Given the description of an element on the screen output the (x, y) to click on. 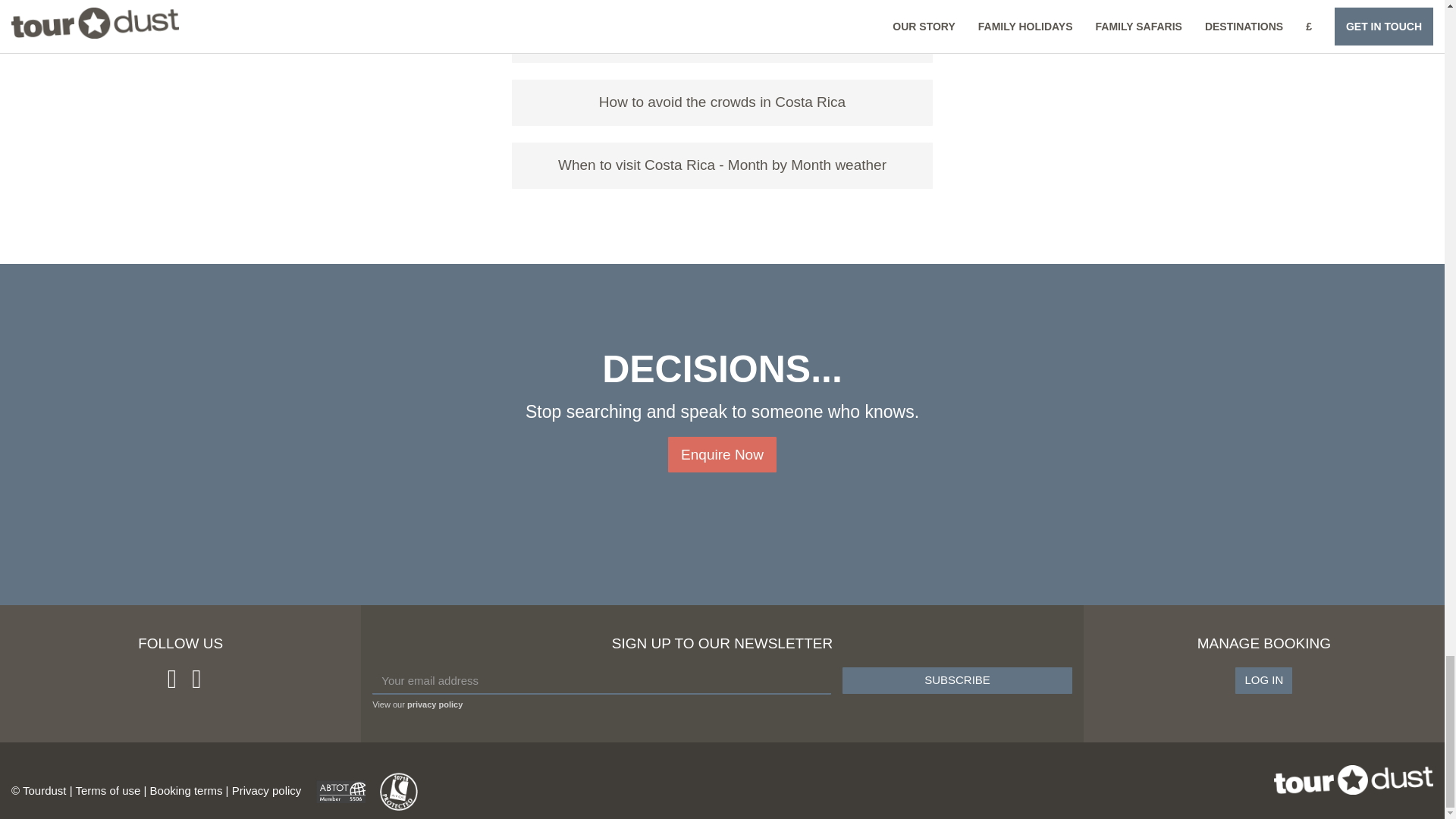
Subscribe (957, 680)
